Given the description of an element on the screen output the (x, y) to click on. 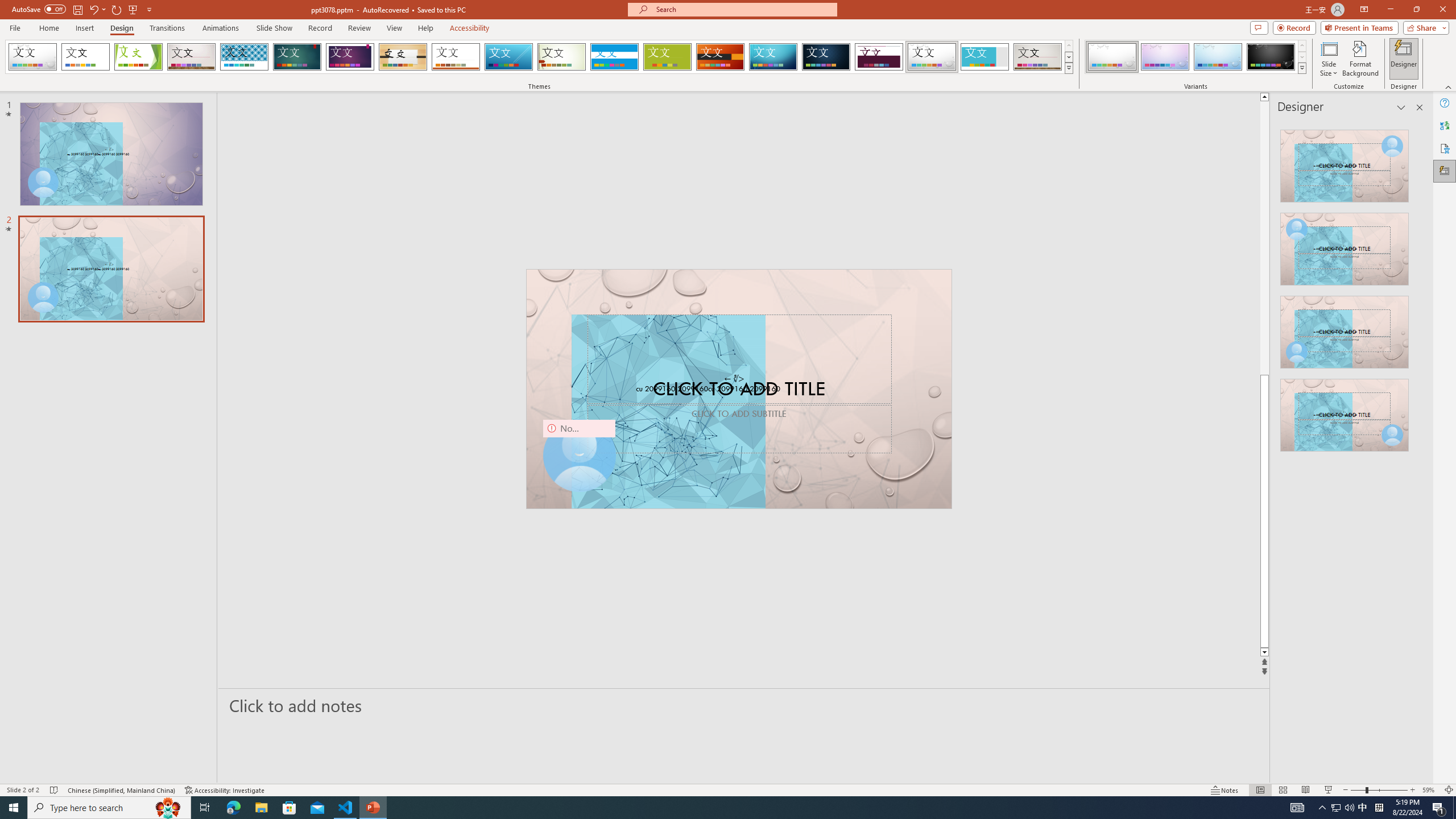
Themes (1068, 67)
Ion Boardroom (350, 56)
Title TextBox (739, 358)
Frame (984, 56)
Zoom 59% (1430, 790)
Slice (508, 56)
Dividend (879, 56)
Design Idea (1344, 411)
Basis (667, 56)
